Given the description of an element on the screen output the (x, y) to click on. 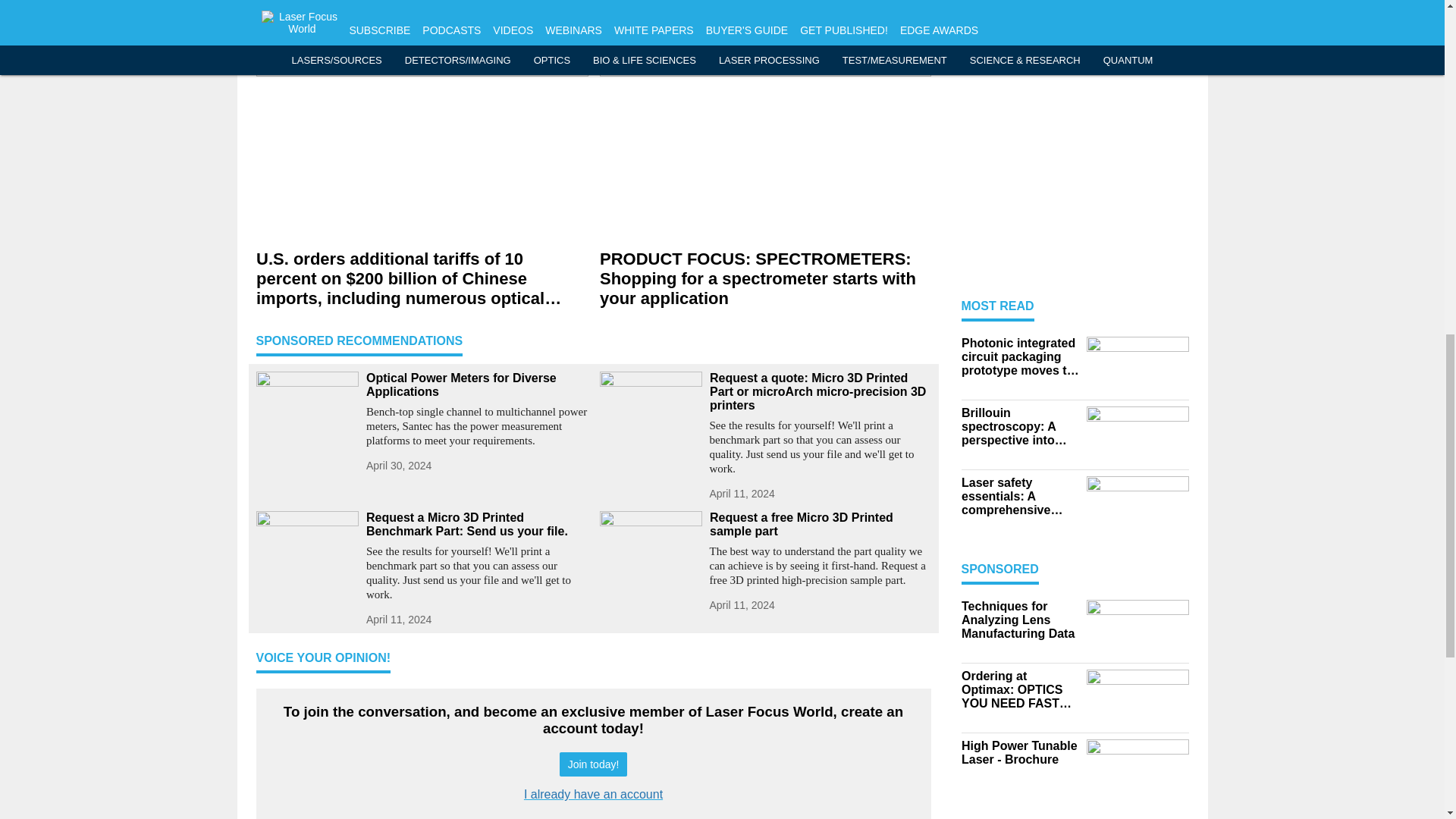
Optical Power Meters for Diverse Applications (476, 384)
